Given the description of an element on the screen output the (x, y) to click on. 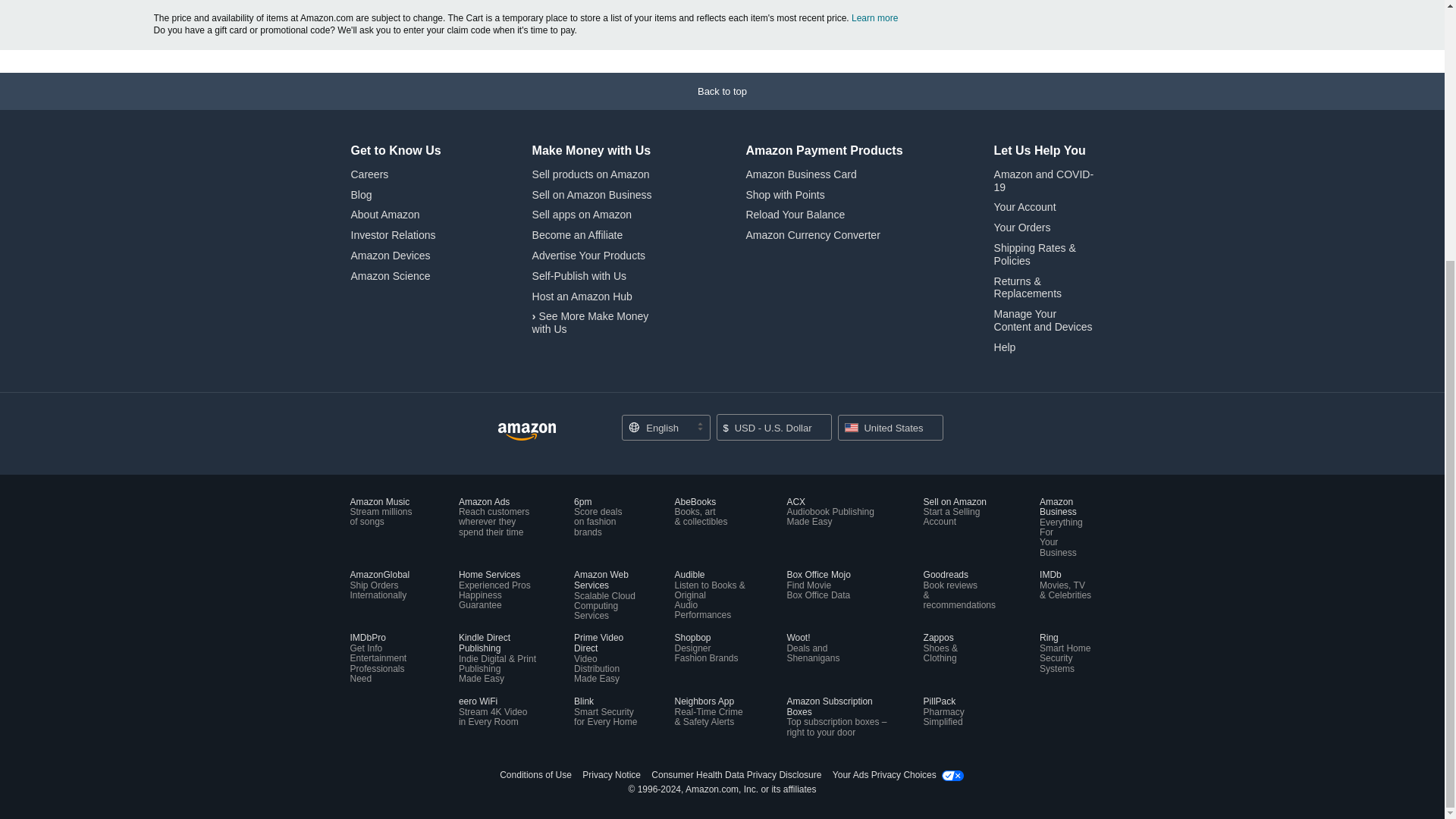
Advertise Your Products (588, 255)
Self-Publish with Us (579, 275)
Blog (360, 194)
Learn more (874, 18)
Amazon Business Card (800, 174)
Sell products on Amazon (590, 174)
Sell apps on Amazon (581, 214)
Become an Affiliate (577, 234)
Host an Amazon Hub (581, 296)
Amazon Devices (389, 255)
Sell on Amazon Business (592, 194)
See More Make Money with Us (590, 322)
Careers (369, 174)
Investor Relations (392, 234)
Amazon Science (389, 275)
